Given the description of an element on the screen output the (x, y) to click on. 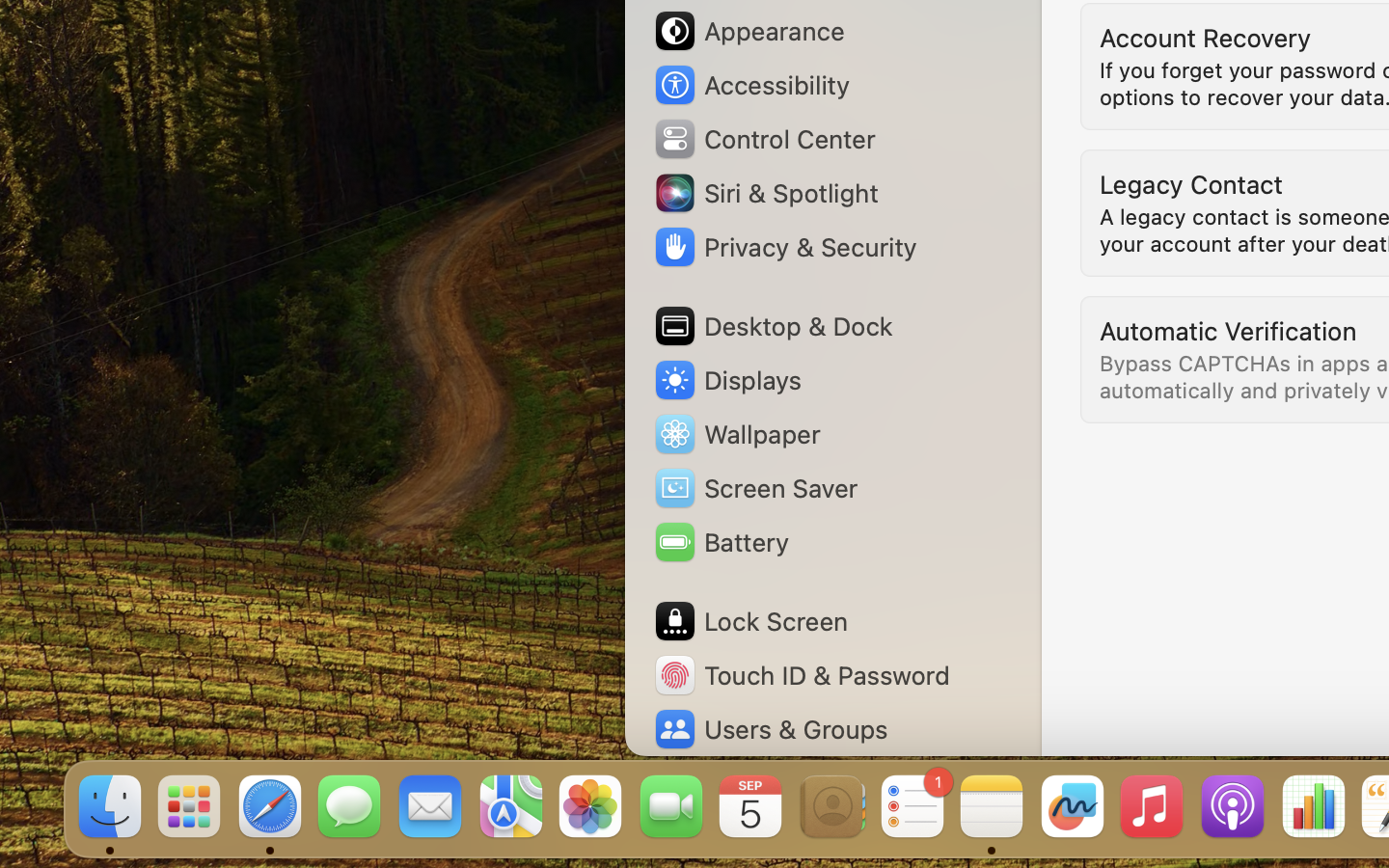
Displays Element type: AXStaticText (727, 379)
Appearance Element type: AXStaticText (748, 30)
Privacy & Security Element type: AXStaticText (784, 246)
Touch ID & Password Element type: AXStaticText (801, 674)
